Given the description of an element on the screen output the (x, y) to click on. 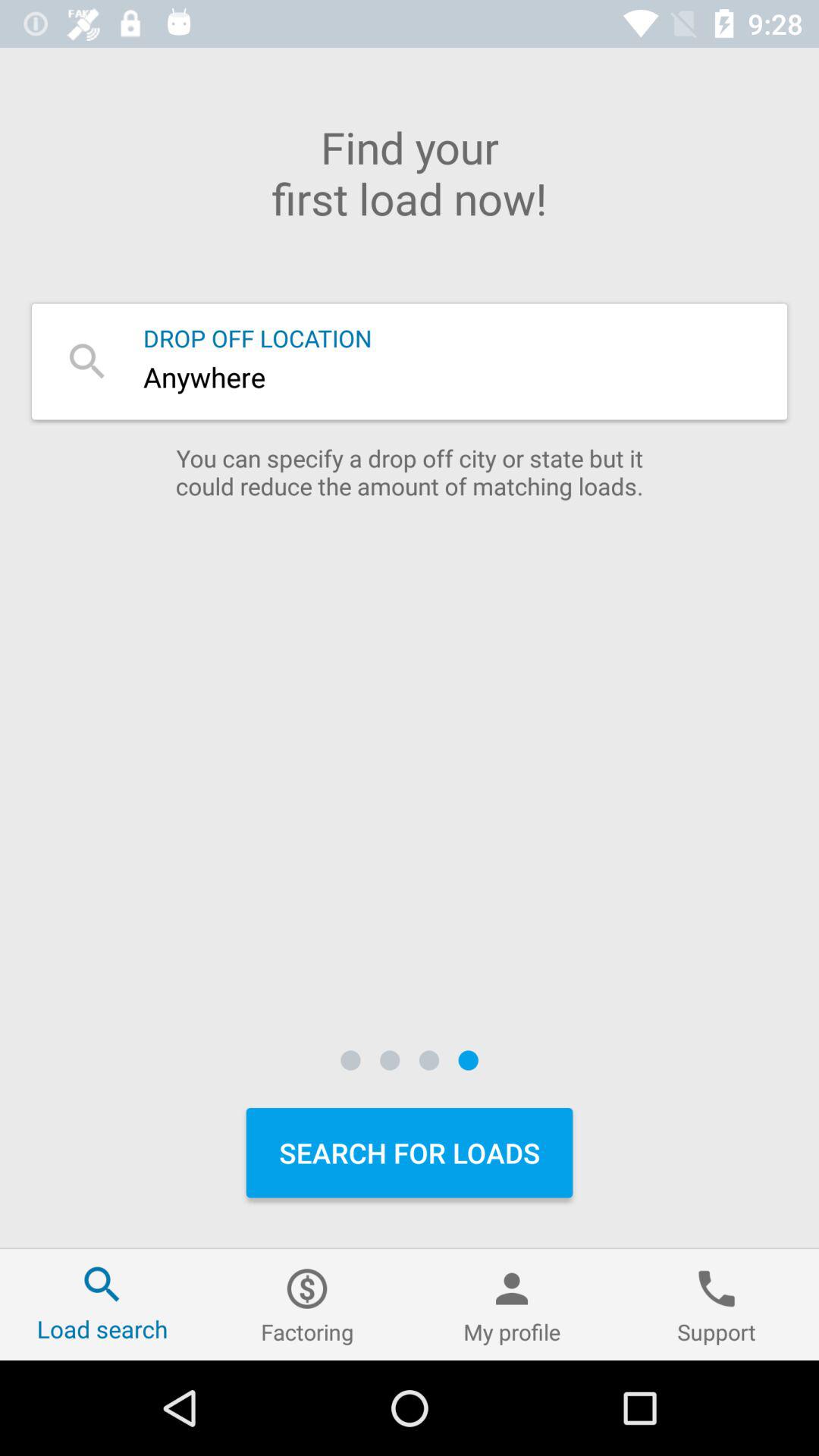
select item next to the factoring item (511, 1304)
